Given the description of an element on the screen output the (x, y) to click on. 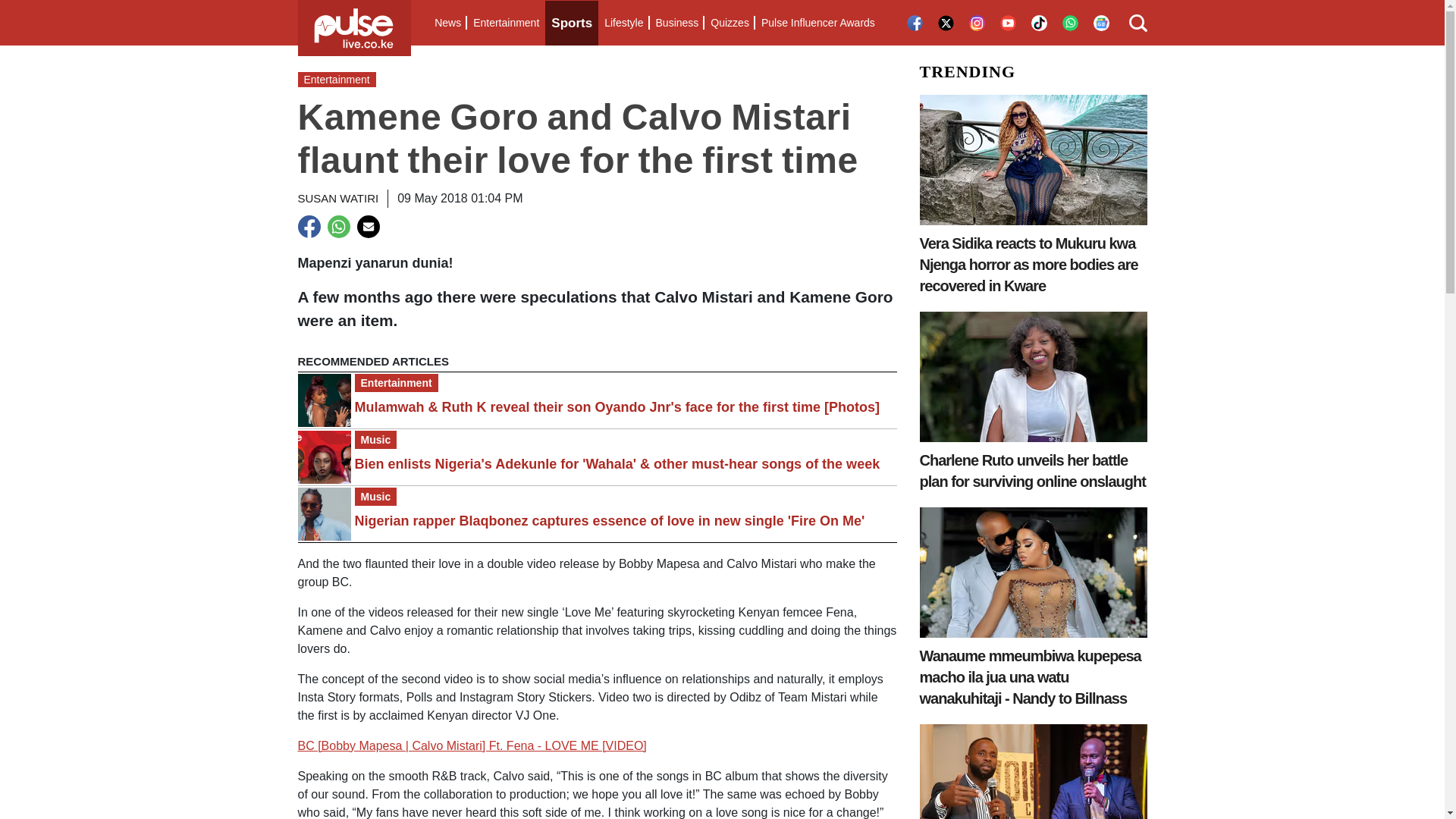
Pulse Influencer Awards (817, 22)
Business (676, 22)
Sports (571, 22)
Entertainment (505, 22)
Lifestyle (623, 22)
Quizzes (729, 22)
